Given the description of an element on the screen output the (x, y) to click on. 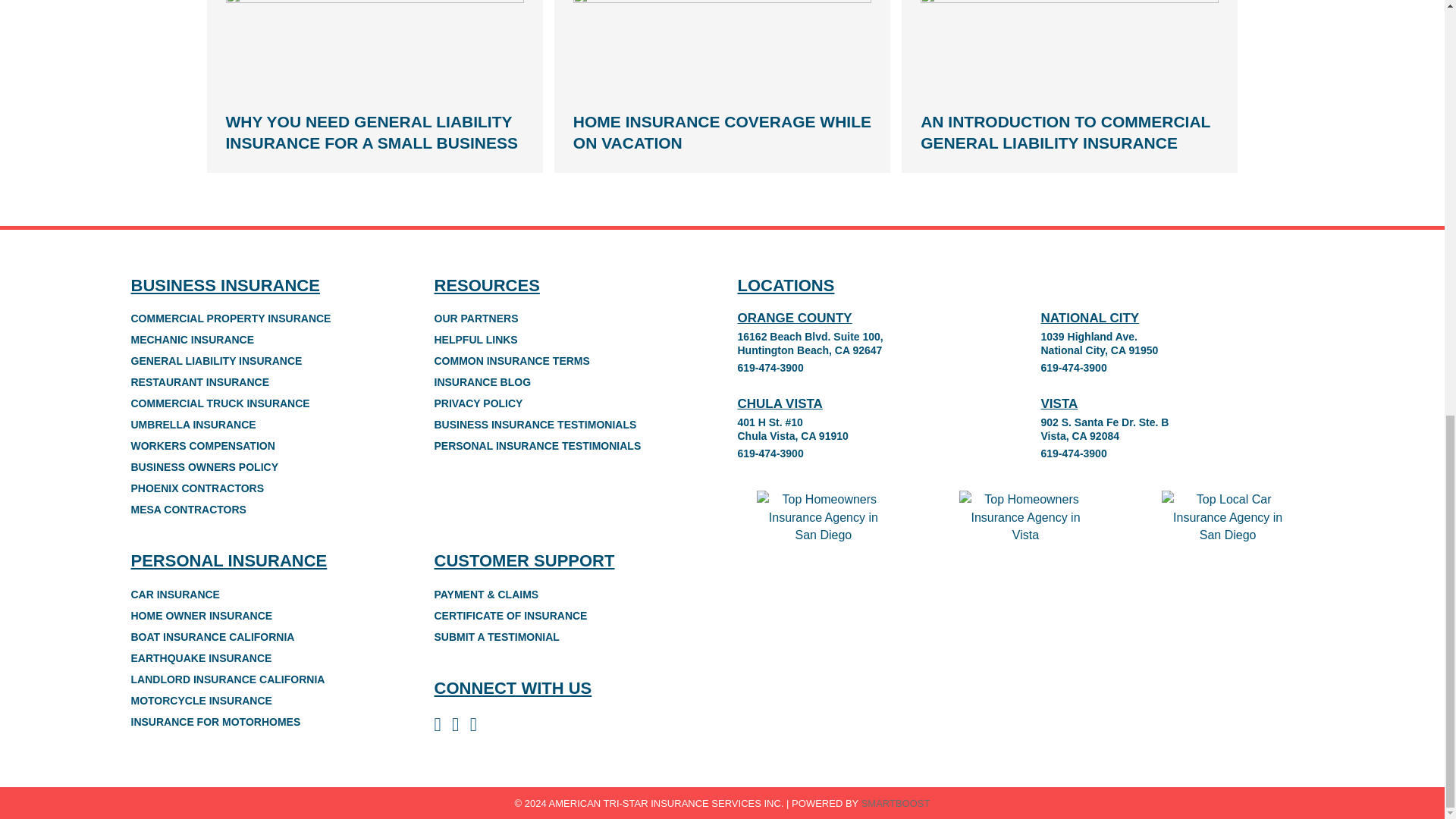
An Introduction to Commercial General Liability Insurance (1064, 132)
An Introduction to Commercial General Liability Insurance (1069, 42)
Home Insurance Coverage While On Vacation (721, 42)
Resources (485, 285)
Home Insurance Coverage While On Vacation (721, 132)
